Given the description of an element on the screen output the (x, y) to click on. 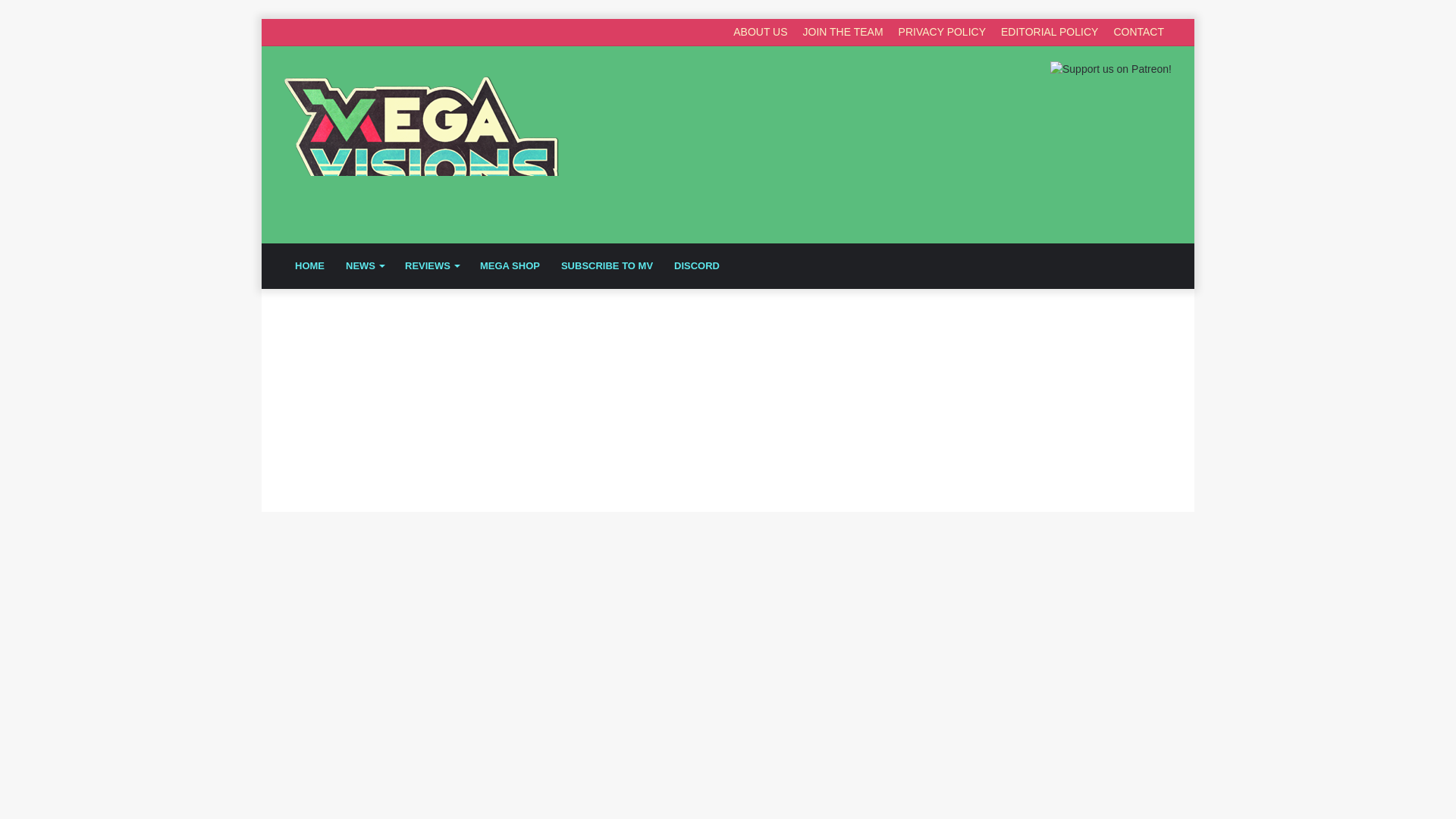
JOIN THE TEAM (842, 31)
NEWS (364, 266)
EDITORIAL POLICY (1048, 31)
DISCORD (696, 266)
SUBSCRIBE TO MV (606, 266)
REVIEWS (431, 266)
HOME (308, 266)
CONTACT (1138, 31)
PRIVACY POLICY (941, 31)
MEGA SHOP (509, 266)
